Given the description of an element on the screen output the (x, y) to click on. 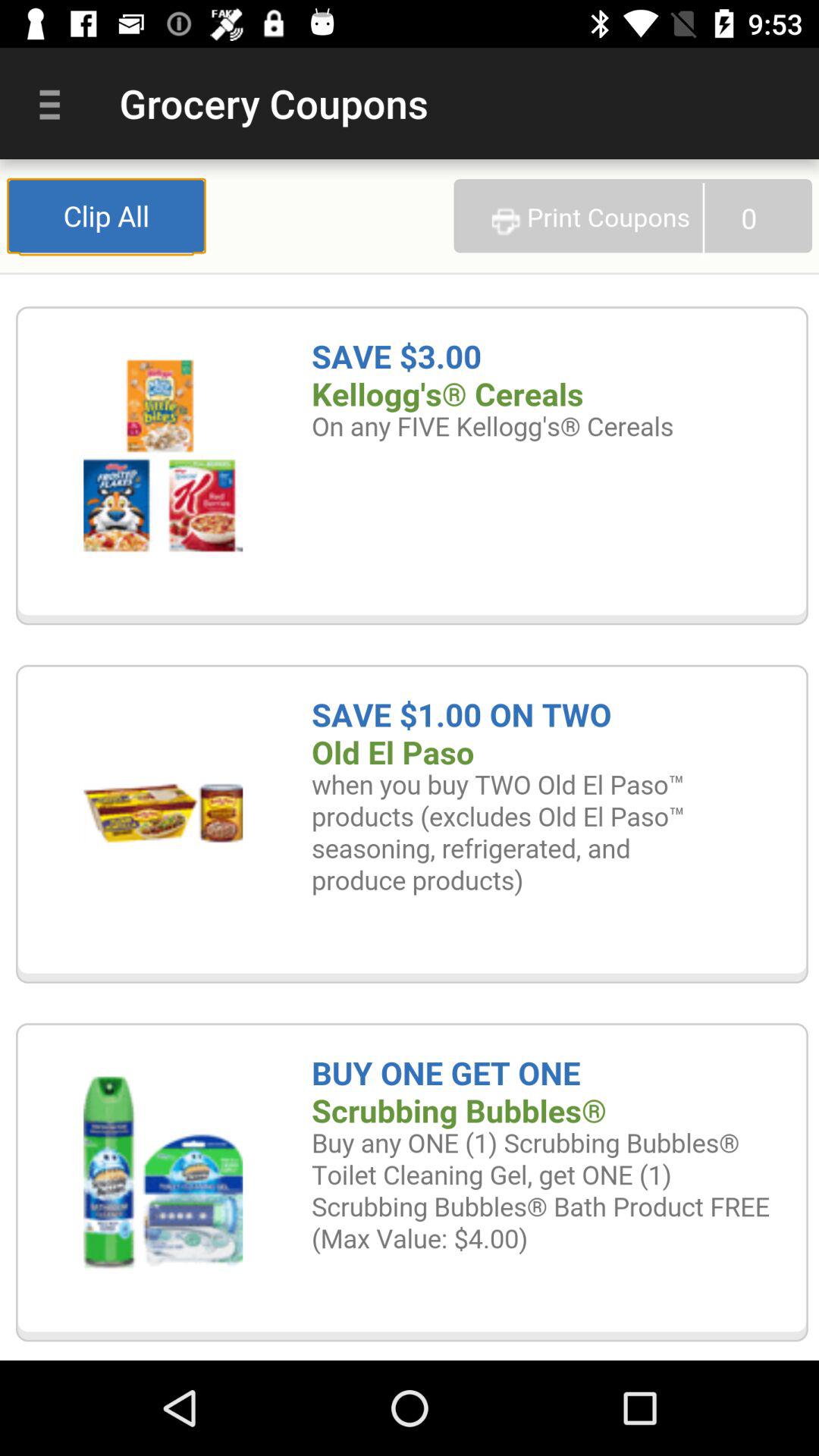
expand coupon selection (409, 759)
